Given the description of an element on the screen output the (x, y) to click on. 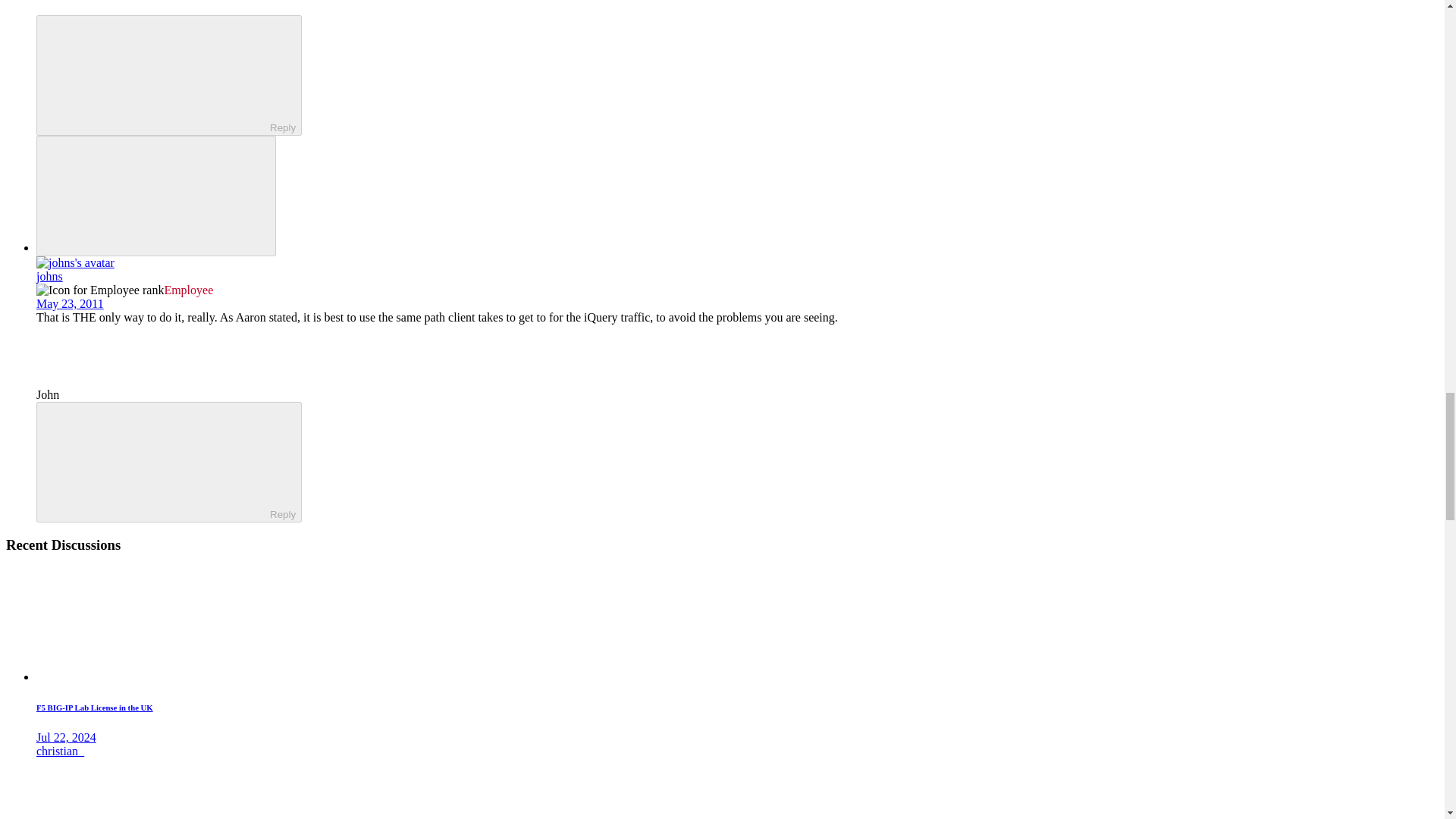
Reply (155, 460)
May 23, 2011 at 9:20 PM (69, 303)
ReplyReply (168, 75)
F5 BIG-IP Lab License in the UK (94, 706)
johns (49, 276)
May 23, 2011 (69, 303)
July 22, 2024 at 4:52 PM (66, 737)
ReplyReply (168, 462)
Jul 22, 2024 (66, 737)
Reply (155, 74)
